Given the description of an element on the screen output the (x, y) to click on. 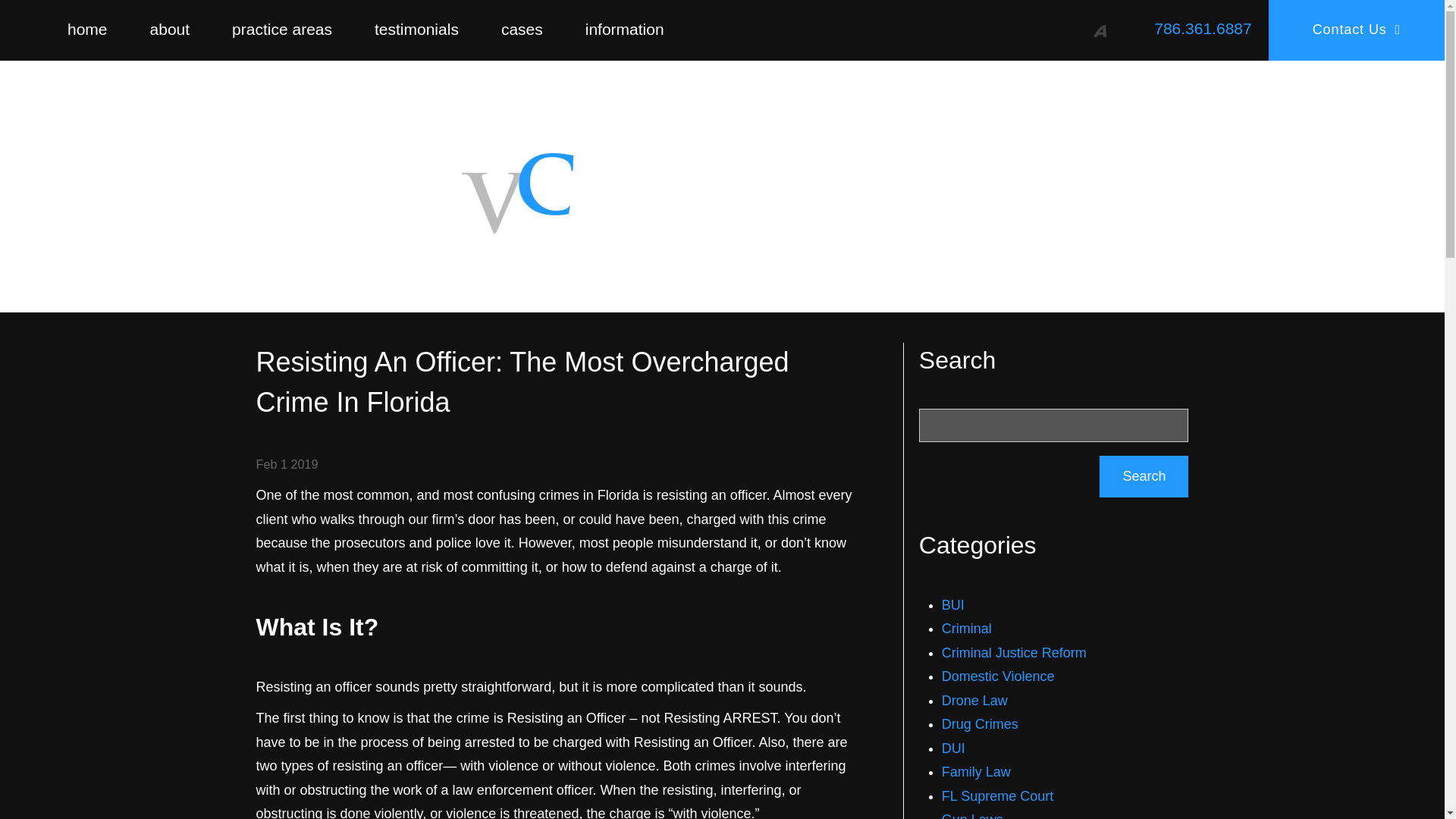
Search (1143, 476)
practice areas (282, 29)
about (170, 29)
home (87, 29)
